Given the description of an element on the screen output the (x, y) to click on. 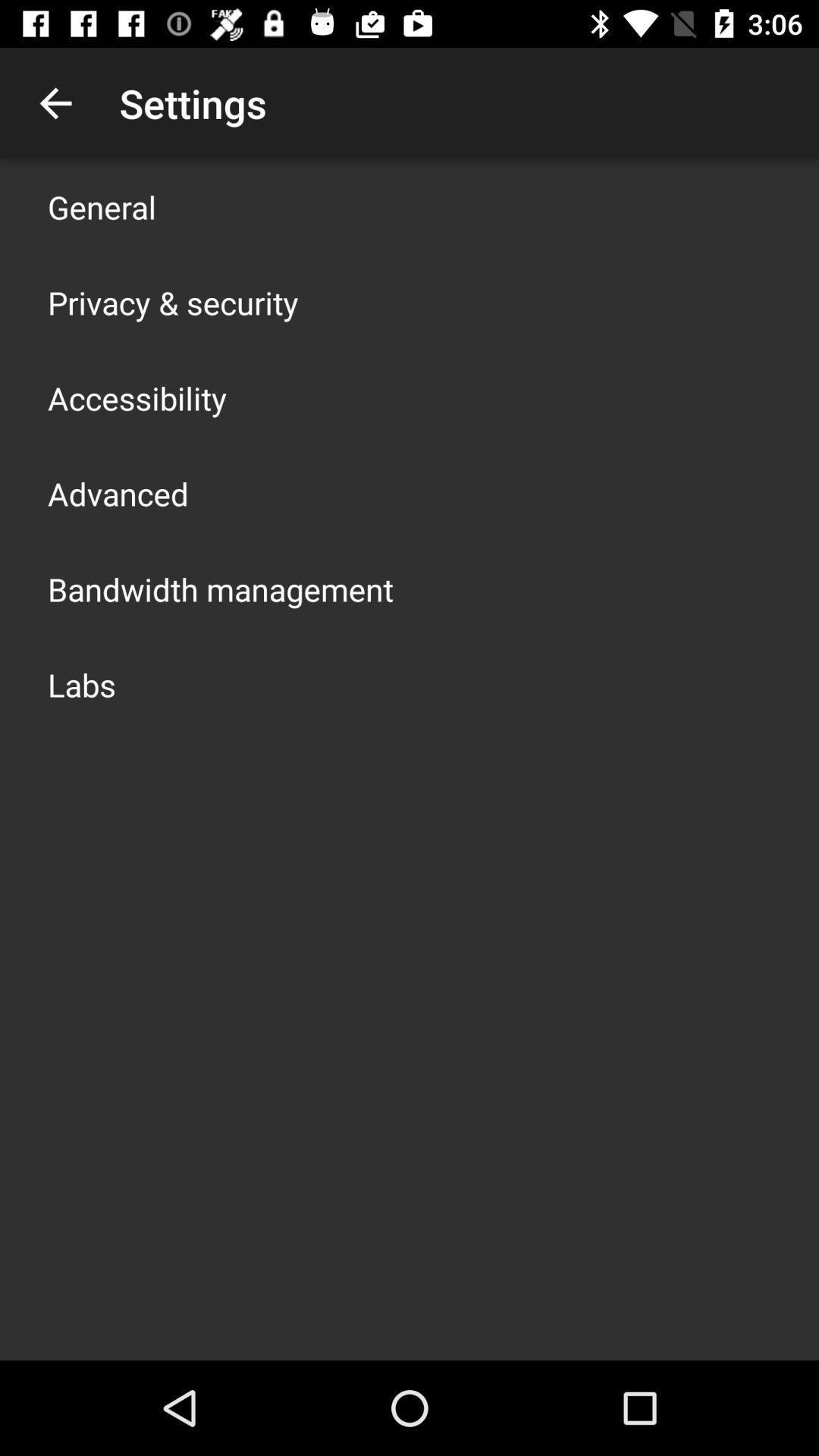
scroll until the bandwidth management icon (220, 588)
